Given the description of an element on the screen output the (x, y) to click on. 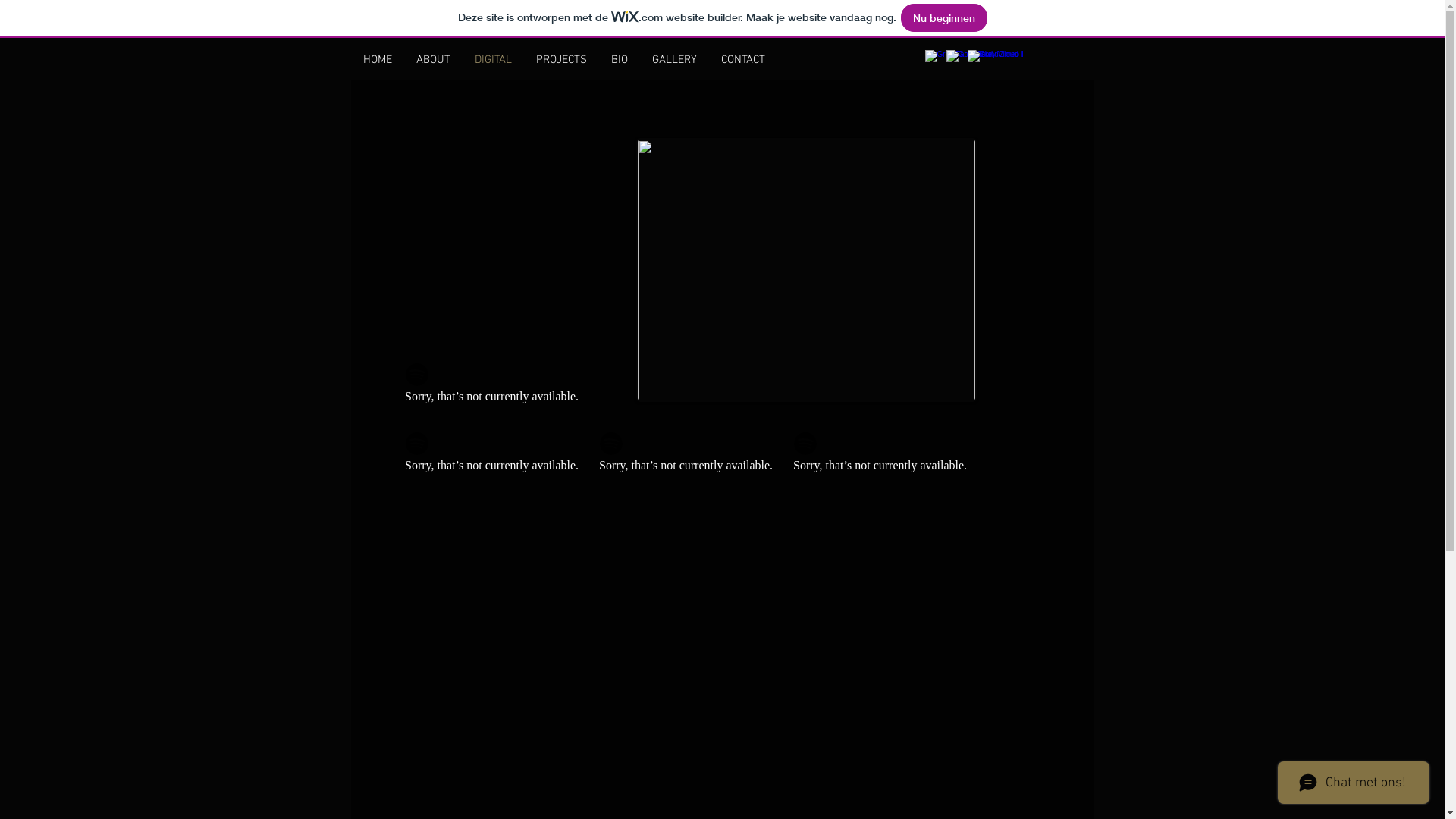
Spotify Player Element type: hover (493, 455)
Spotify Player Element type: hover (493, 386)
Spotify Player Element type: hover (881, 455)
DIGITAL Element type: text (493, 60)
Spotify Player Element type: hover (493, 456)
Spotify Player Element type: hover (881, 456)
Spotify Player Element type: hover (493, 387)
Spotify Player Element type: hover (687, 456)
GALLERY Element type: text (674, 60)
CONTACT Element type: text (742, 60)
PROJECTS Element type: text (560, 60)
SoundCloud Player Element type: hover (581, 603)
ABOUT Element type: text (432, 60)
BIO Element type: text (619, 60)
HOME Element type: text (376, 60)
Spotify Player Element type: hover (687, 455)
